Given the description of an element on the screen output the (x, y) to click on. 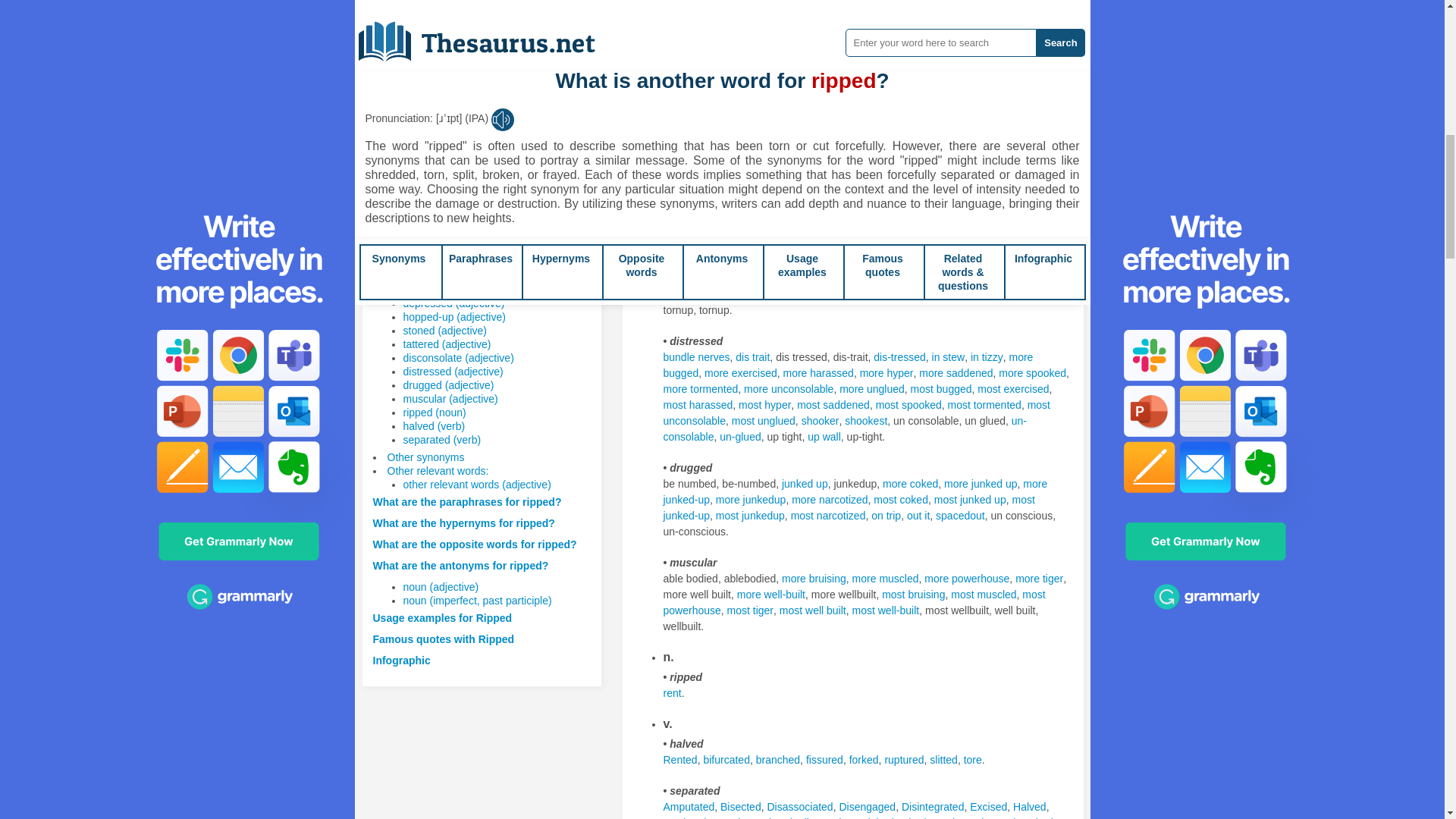
What is another word for ripped? (456, 260)
Synonyms for Ripped (752, 42)
Synonyms for Ripped (686, 168)
Synonyms for Ripped (798, 73)
Synonyms for Ripped (805, 42)
Synonyms for Ripped (878, 58)
Synonyms for Ripped (785, 58)
What are the antonyms for ripped? (460, 565)
Usage examples for Ripped (442, 617)
Synonyms for Ripped (986, 58)
